Given the description of an element on the screen output the (x, y) to click on. 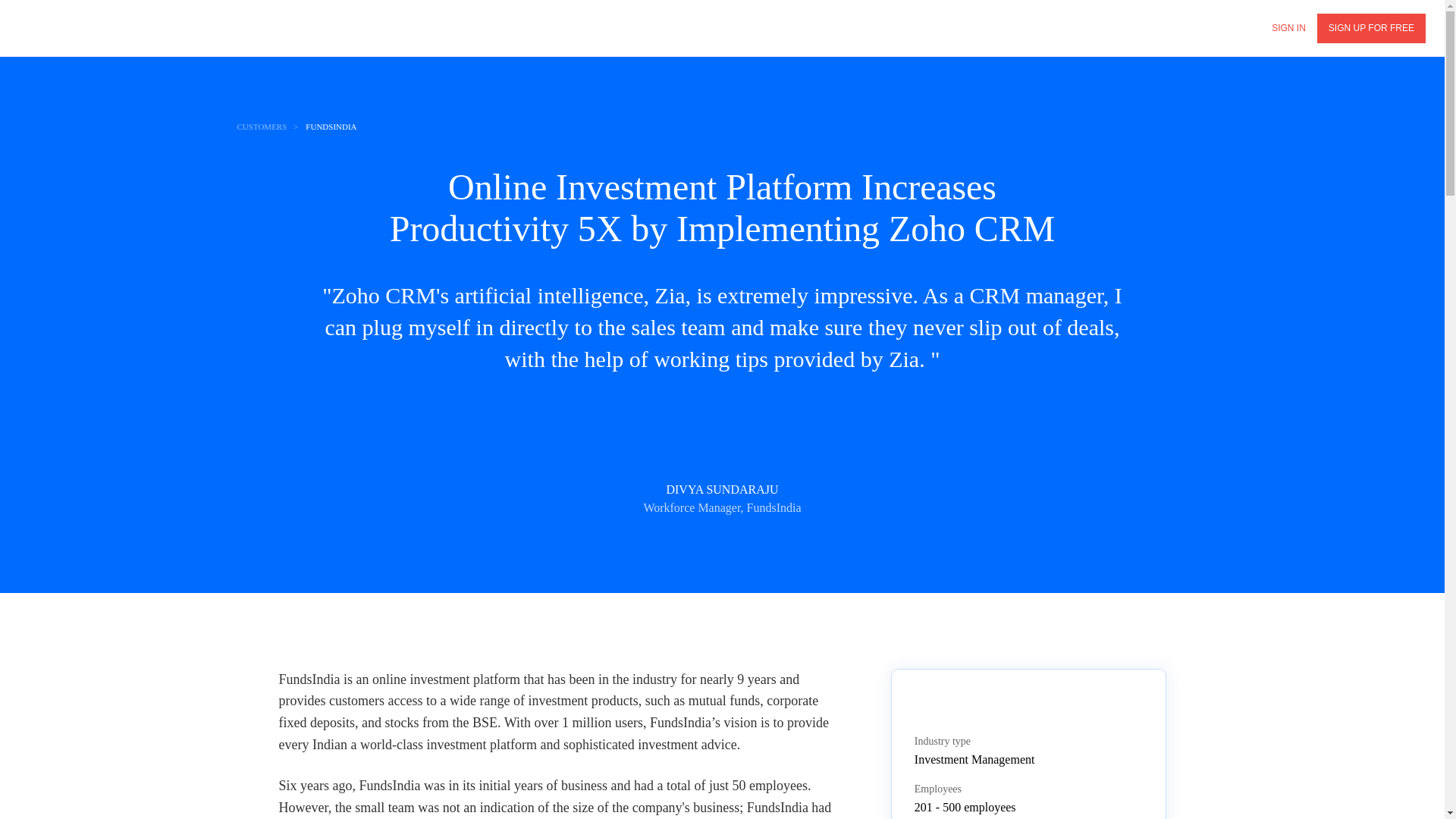
SIGN IN (1288, 28)
SIGN UP FOR FREE (1371, 28)
CUSTOMERS (260, 127)
Zoho.com (60, 27)
